Given the description of an element on the screen output the (x, y) to click on. 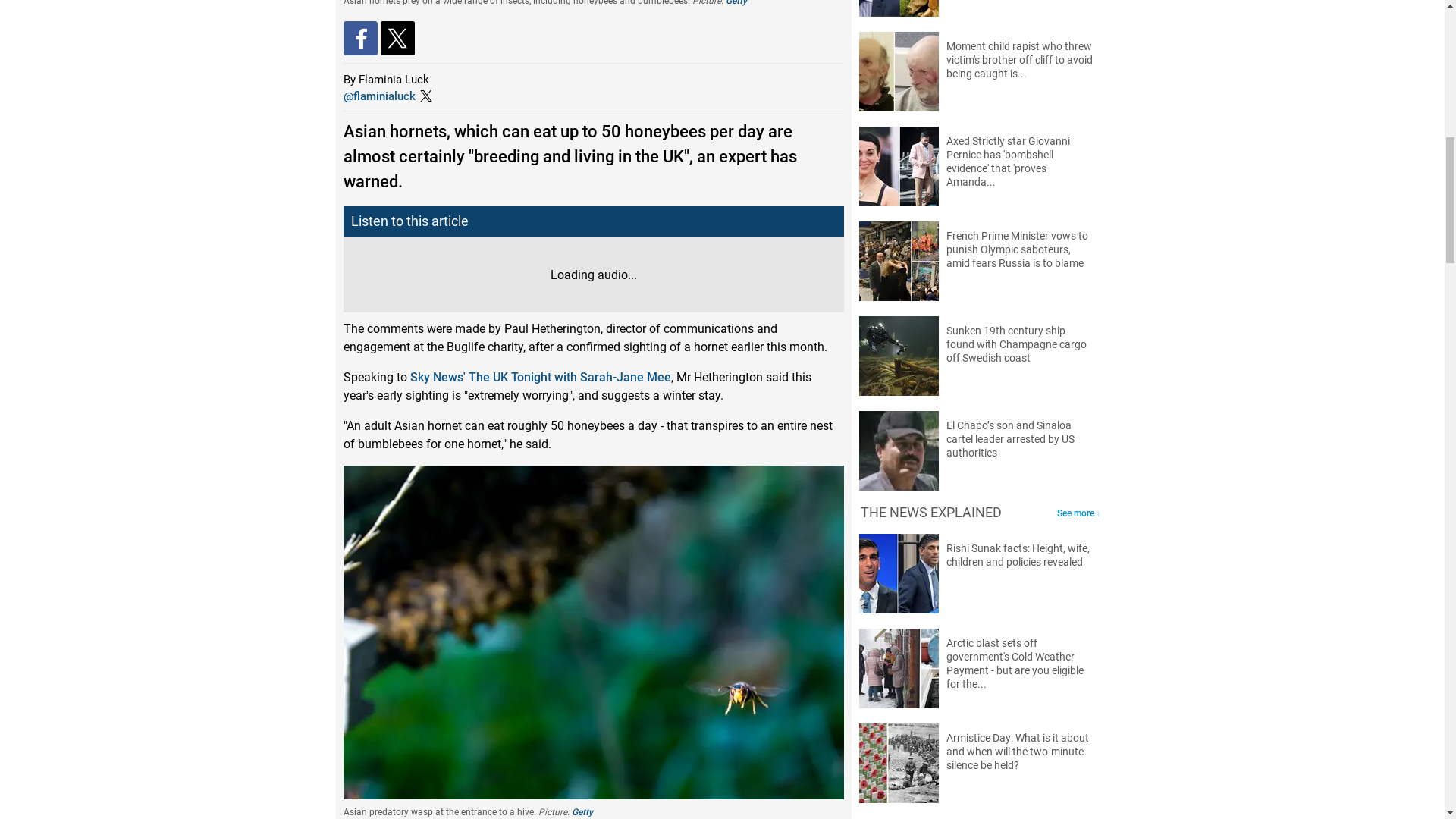
Follow Flaminia Luck on X (378, 96)
